Given the description of an element on the screen output the (x, y) to click on. 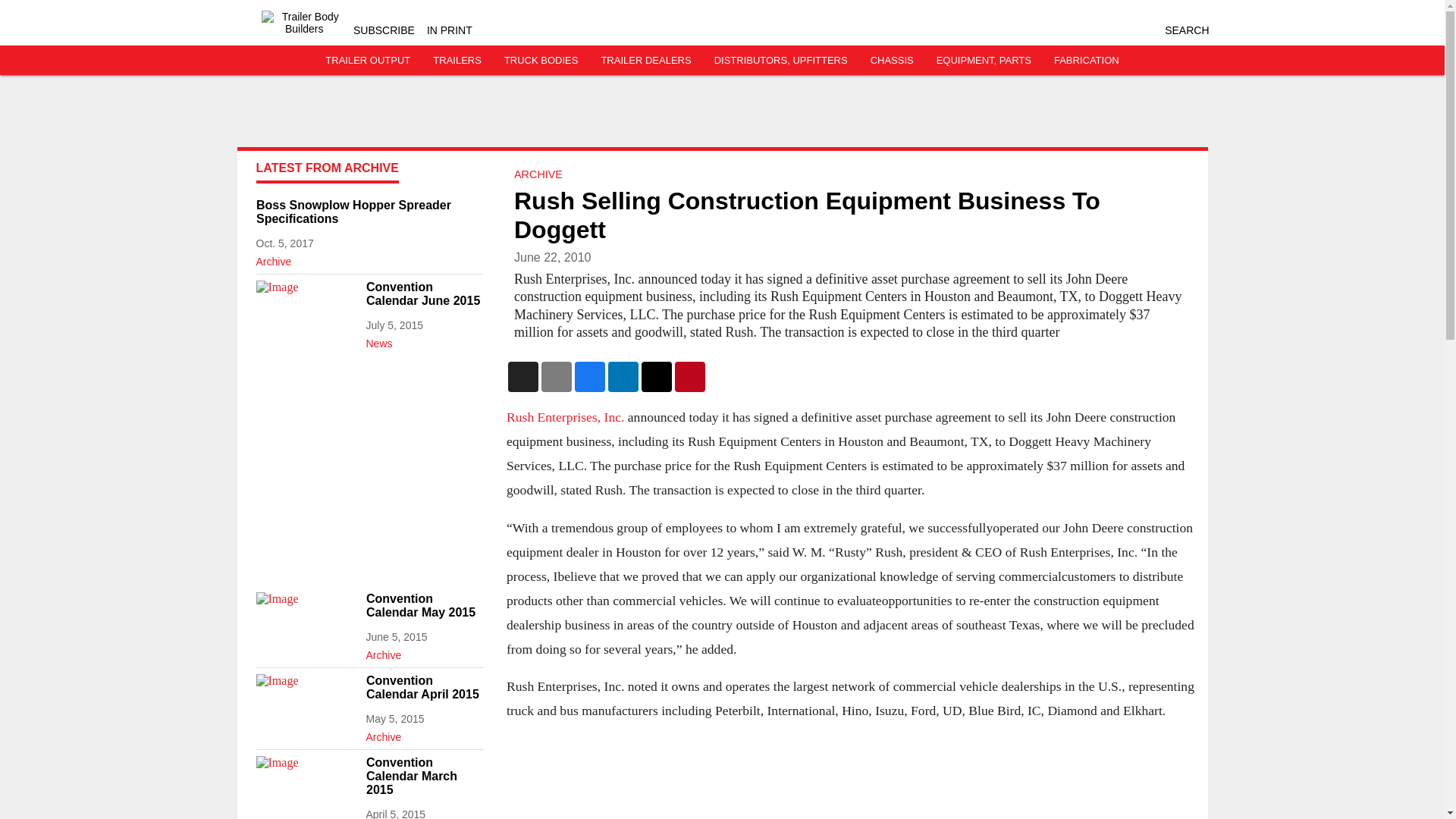
Image (307, 784)
Image (307, 308)
Convention Calendar May 2015 (424, 605)
SUBSCRIBE (383, 30)
TRAILER DEALERS (644, 60)
News (424, 340)
SEARCH (1186, 30)
ARCHIVE (537, 174)
TRUCK BODIES (540, 60)
FABRICATION (1086, 60)
DISTRIBUTORS, UPFITTERS (780, 60)
Archive (369, 258)
Archive (424, 733)
CHASSIS (892, 60)
Boss Snowplow Hopper Spreader Specifications (369, 212)
